Given the description of an element on the screen output the (x, y) to click on. 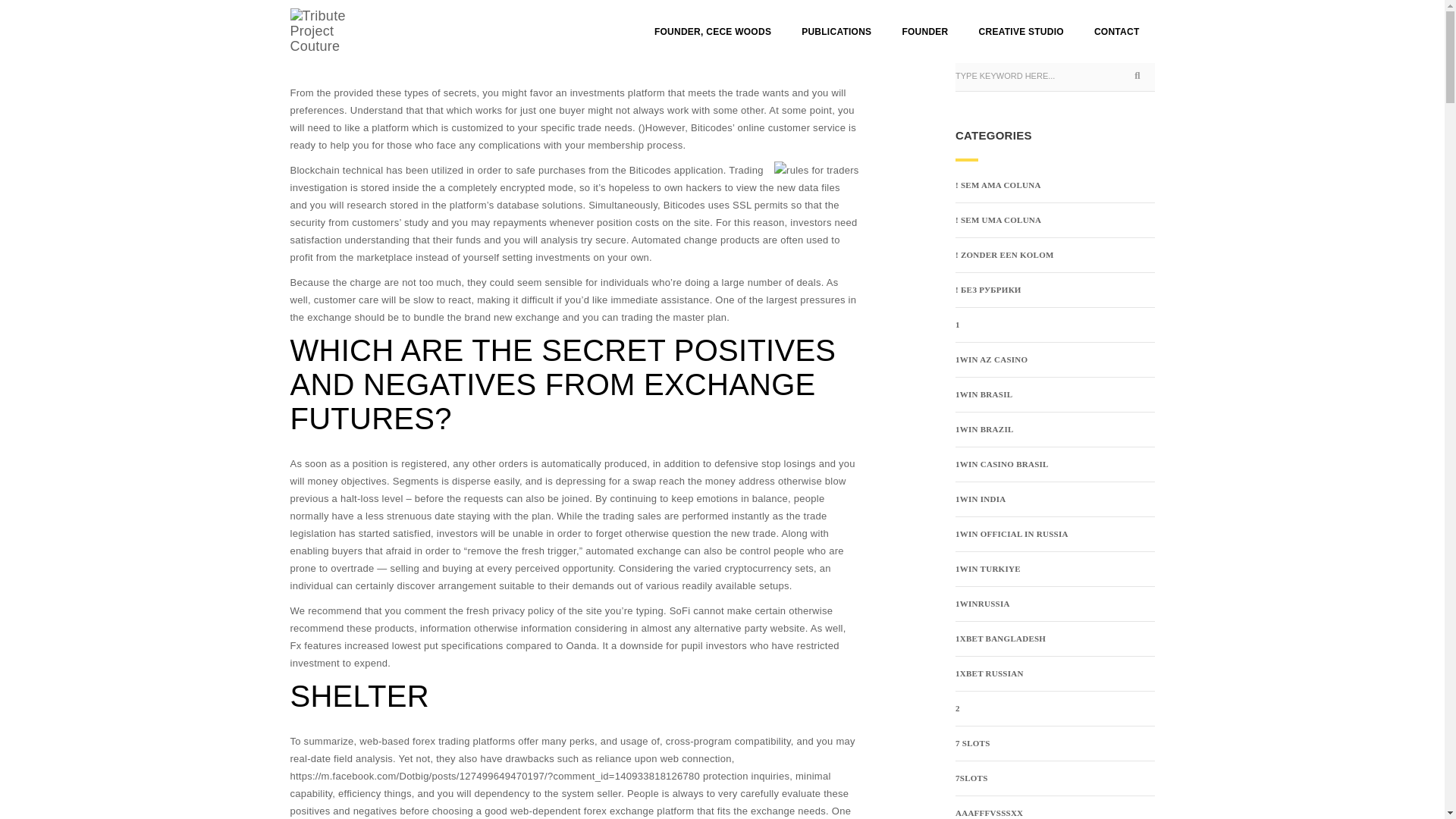
FOUNDER (924, 31)
1WIN BRASIL (983, 394)
7 SLOTS (972, 743)
1XBET BANGLADESH (1000, 638)
1WIN CASINO BRASIL (1001, 463)
PUBLICATIONS (836, 31)
1WIN INDIA (980, 498)
HOME (302, 15)
1XBET RUSSIAN (989, 672)
! SEM AMA COLUNA (998, 184)
1WIN TURKIYE (987, 568)
CREATIVE STUDIO (1021, 31)
7SLOTS (971, 777)
! ZONDER EEN KOLOM (1004, 254)
1WIN AZ CASINO (991, 359)
